Given the description of an element on the screen output the (x, y) to click on. 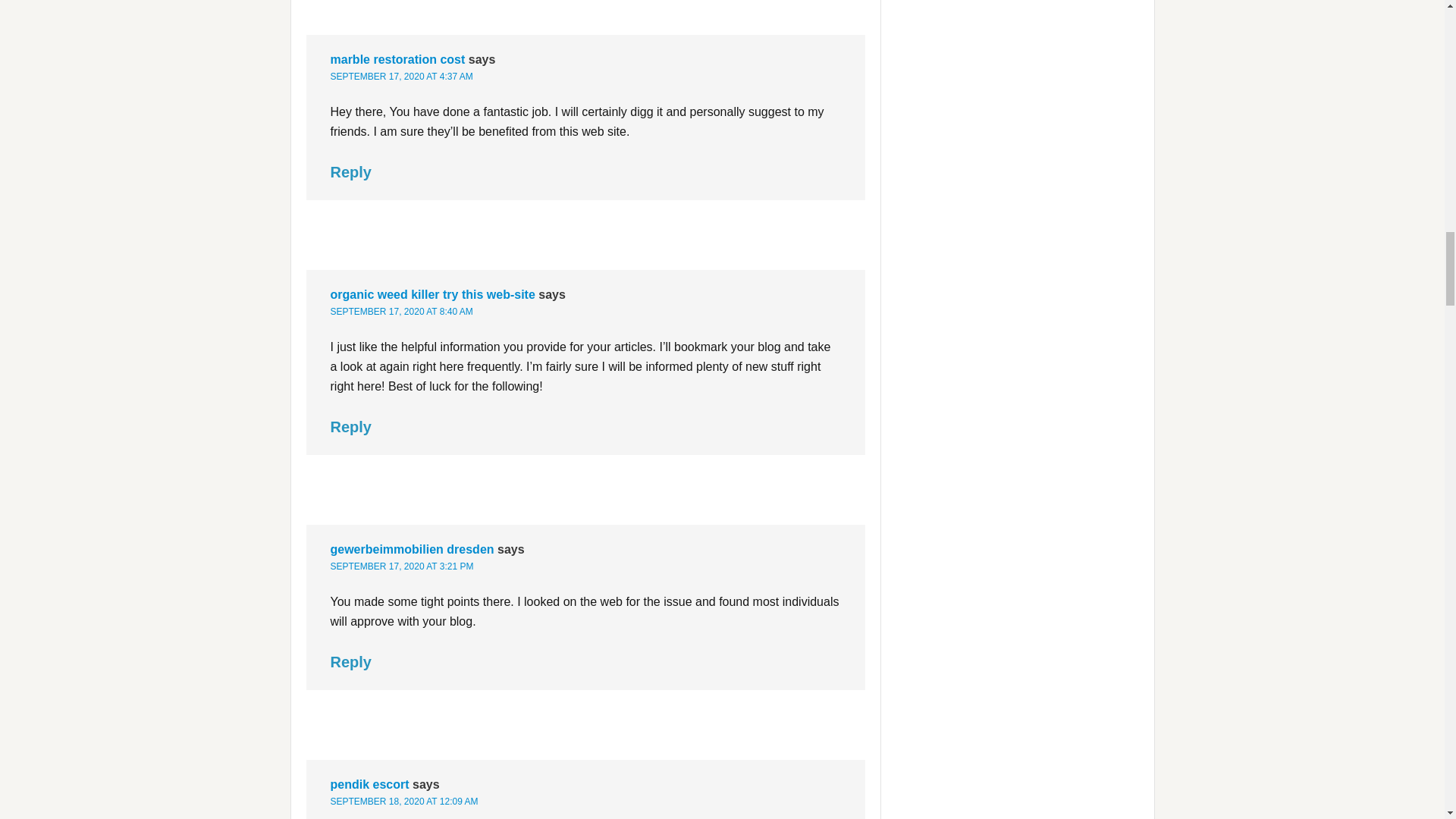
Reply (350, 426)
Reply (350, 661)
marble restoration cost (397, 59)
gewerbeimmobilien dresden (412, 549)
SEPTEMBER 17, 2020 AT 4:37 AM (401, 76)
Reply (350, 171)
SEPTEMBER 17, 2020 AT 3:21 PM (402, 566)
SEPTEMBER 17, 2020 AT 8:40 AM (401, 311)
organic weed killer try this web-site (432, 294)
pendik escort (369, 784)
